Given the description of an element on the screen output the (x, y) to click on. 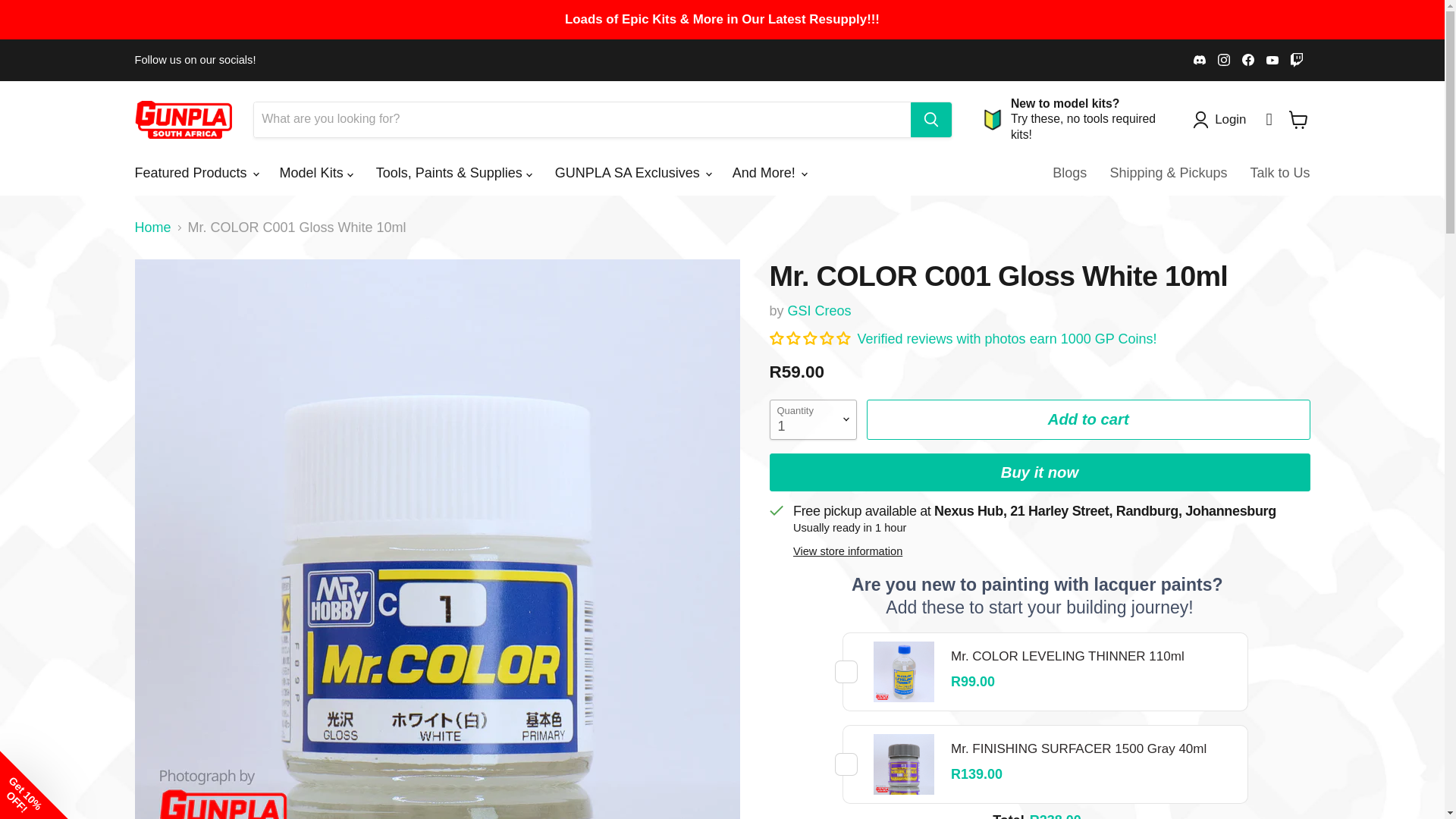
GSI Creos (819, 310)
Find us on Youtube (1272, 59)
Find us on Discord (1199, 59)
Find us on Facebook (1248, 59)
Facebook (1248, 59)
Twitch (1296, 59)
Login (1230, 119)
View cart (1298, 119)
Find us on Instagram (1223, 59)
Instagram (1223, 59)
Find us on Twitch (1296, 59)
Discord (1199, 59)
Follow us on our socials! (195, 60)
Youtube (1272, 59)
